Given the description of an element on the screen output the (x, y) to click on. 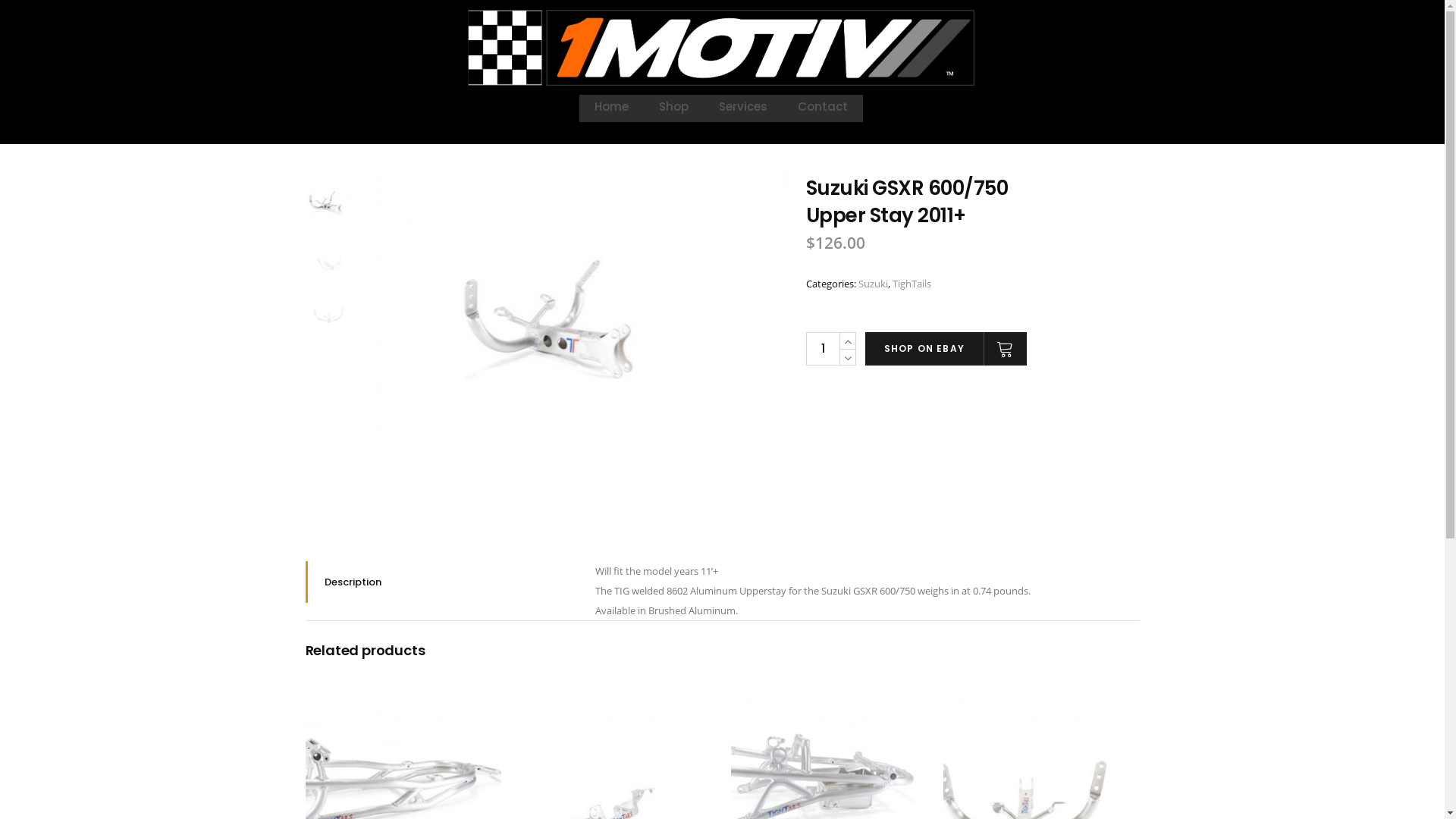
tightails-suzuki-upper-stay-3 Element type: hover (330, 260)
Suzuki Element type: text (873, 283)
Services Element type: text (742, 113)
SHOP ON EBAY Element type: text (945, 348)
Qty Element type: hover (821, 348)
Description Element type: text (437, 581)
tightails-suzuki-upper-stay-2 Element type: hover (330, 311)
Shop Element type: text (673, 113)
TighTails Element type: text (910, 283)
Contact Element type: text (822, 113)
tightails-suzuki-upper-stay-1 Element type: hover (582, 311)
U Element type: text (1097, 422)
Home Element type: text (611, 113)
